Given the description of an element on the screen output the (x, y) to click on. 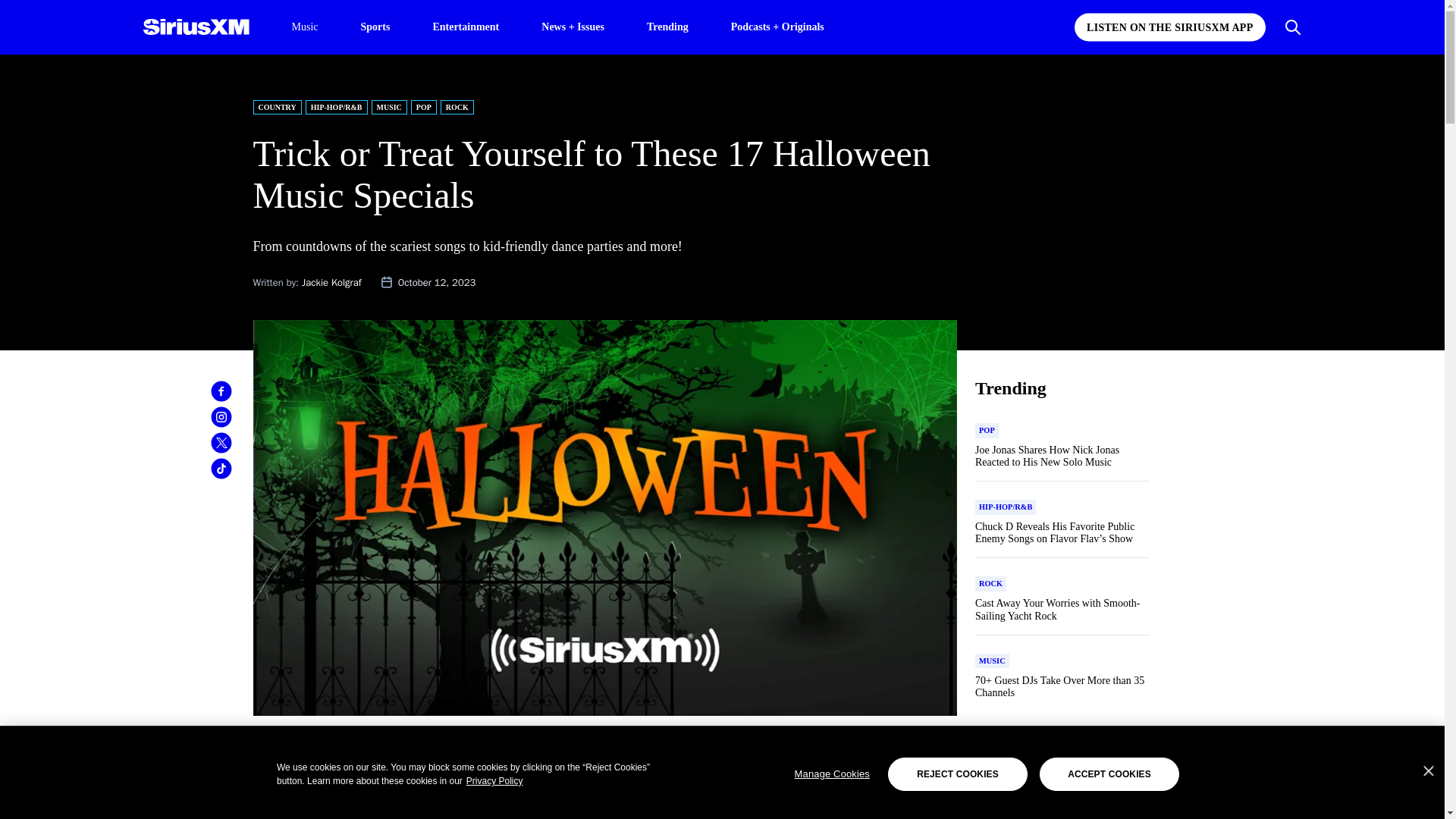
POP (423, 106)
MUSIC (389, 106)
COUNTRY (277, 106)
Entertainment (465, 26)
Trending (667, 26)
Music (304, 26)
Sports (375, 26)
ROCK (457, 106)
LISTEN ON THE SIRIUSXM APP (1169, 27)
Halloween (508, 752)
Jackie Kolgraf (331, 282)
